Given the description of an element on the screen output the (x, y) to click on. 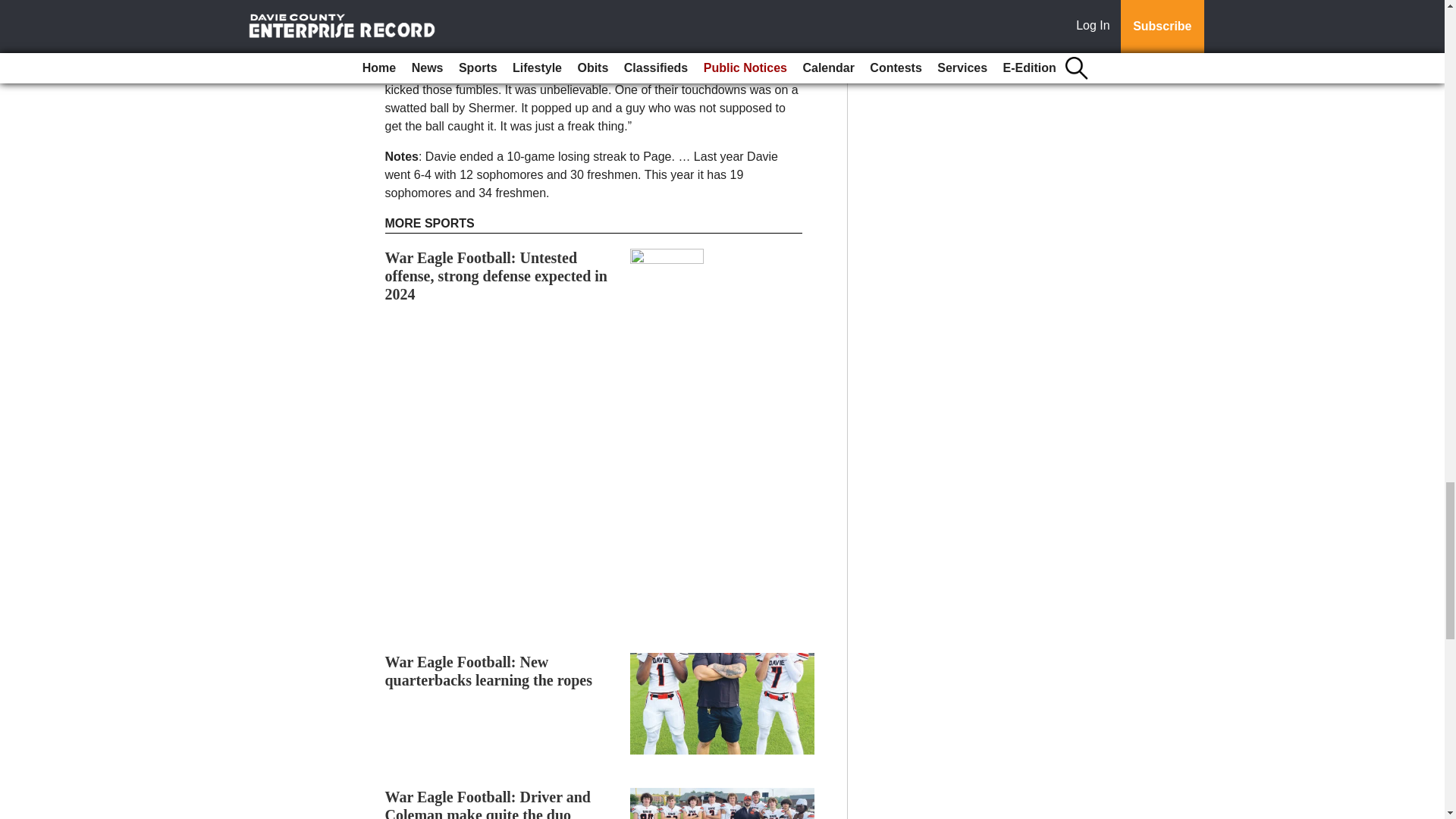
War Eagle Football: New quarterbacks learning the ropes (488, 670)
War Eagle Football: Driver and Coleman make quite the duo (488, 803)
War Eagle Football: Driver and Coleman make quite the duo (488, 803)
War Eagle Football: New quarterbacks learning the ropes (488, 670)
